Given the description of an element on the screen output the (x, y) to click on. 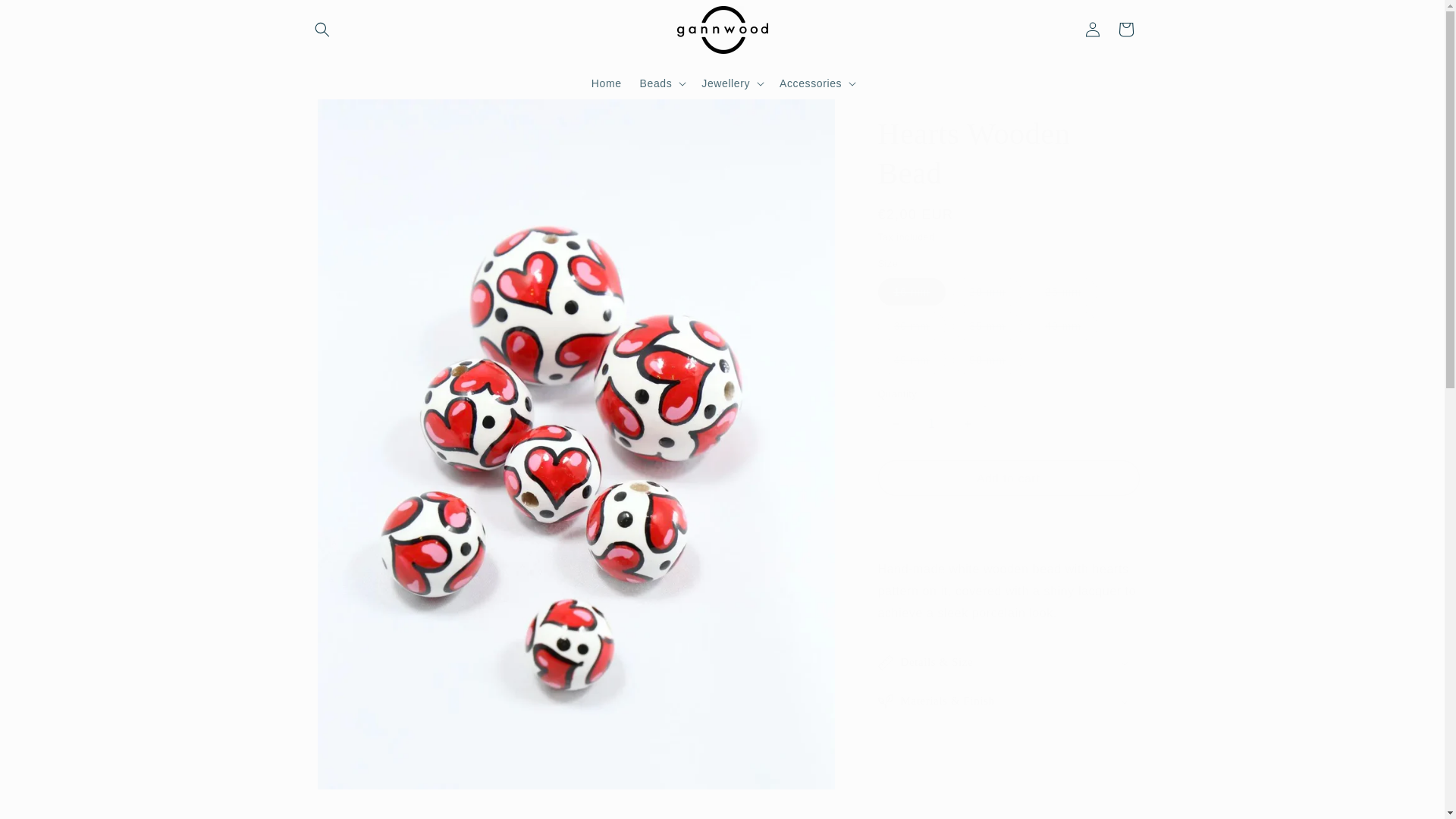
Log in (1091, 29)
Skip to product information (350, 116)
1 (931, 423)
Home (606, 82)
